Given the description of an element on the screen output the (x, y) to click on. 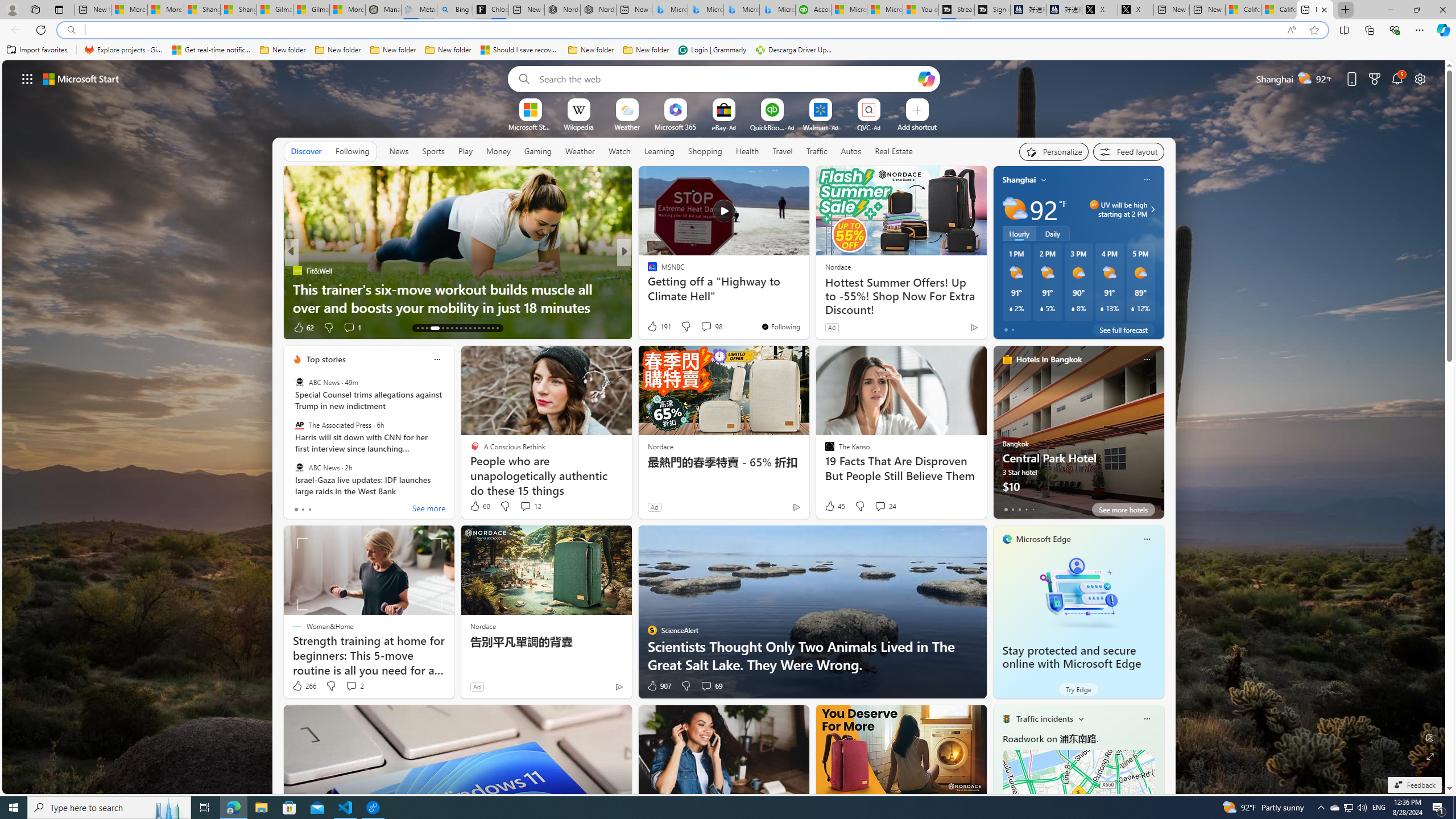
Personalized Deals On New Bundles and Offers. Just for You! (807, 298)
View comments 5 Comment (352, 327)
See more hotels (1123, 509)
907 Like (658, 685)
View comments 12 Comment (525, 505)
Should I save recovered Word documents? - Microsoft Support (519, 49)
